Given the description of an element on the screen output the (x, y) to click on. 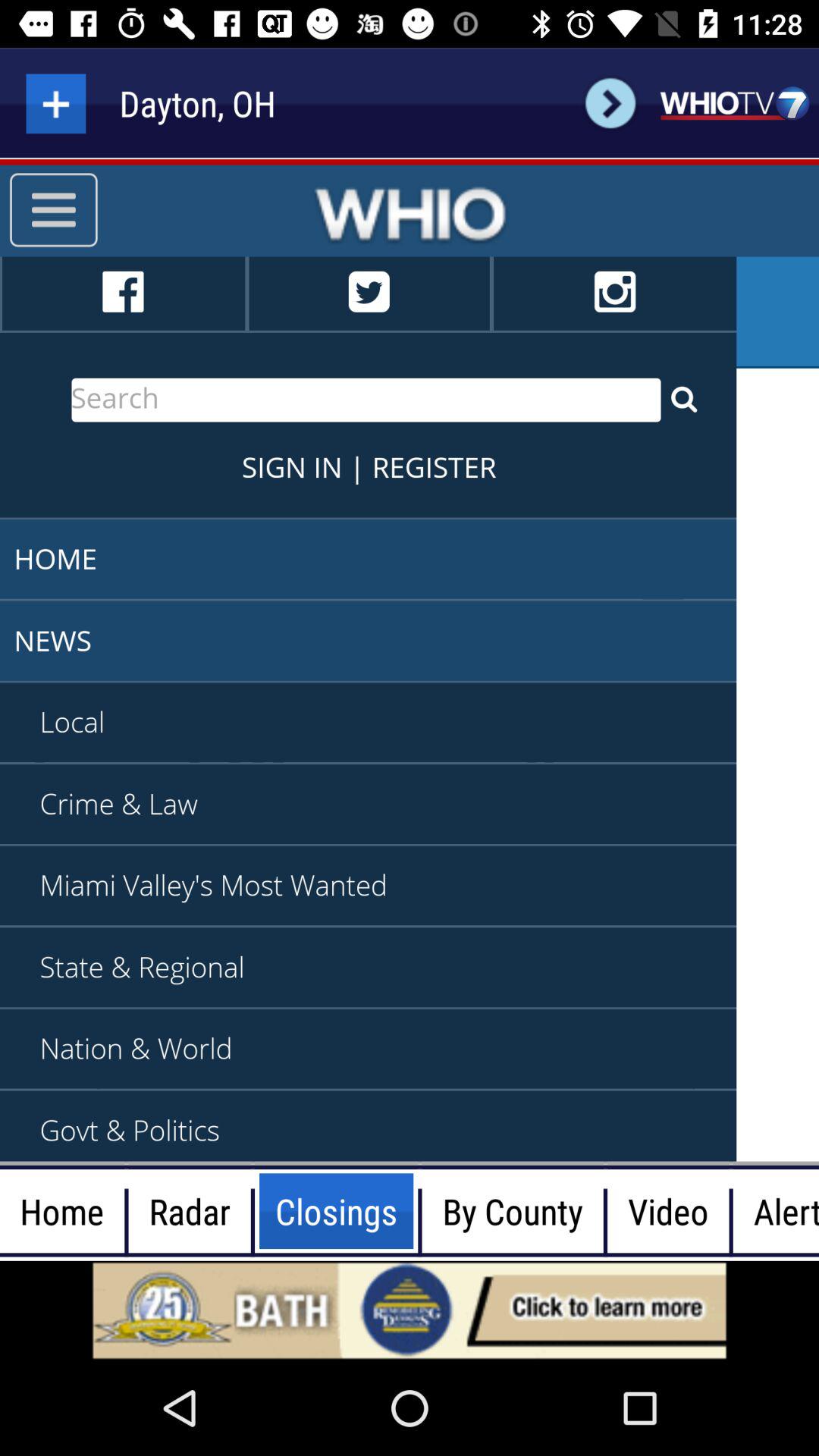
select the black vertical line mentioned between video and alert tab (730, 1210)
go to radar option beside home option (189, 1210)
line between home and radar option (126, 1210)
